Given the description of an element on the screen output the (x, y) to click on. 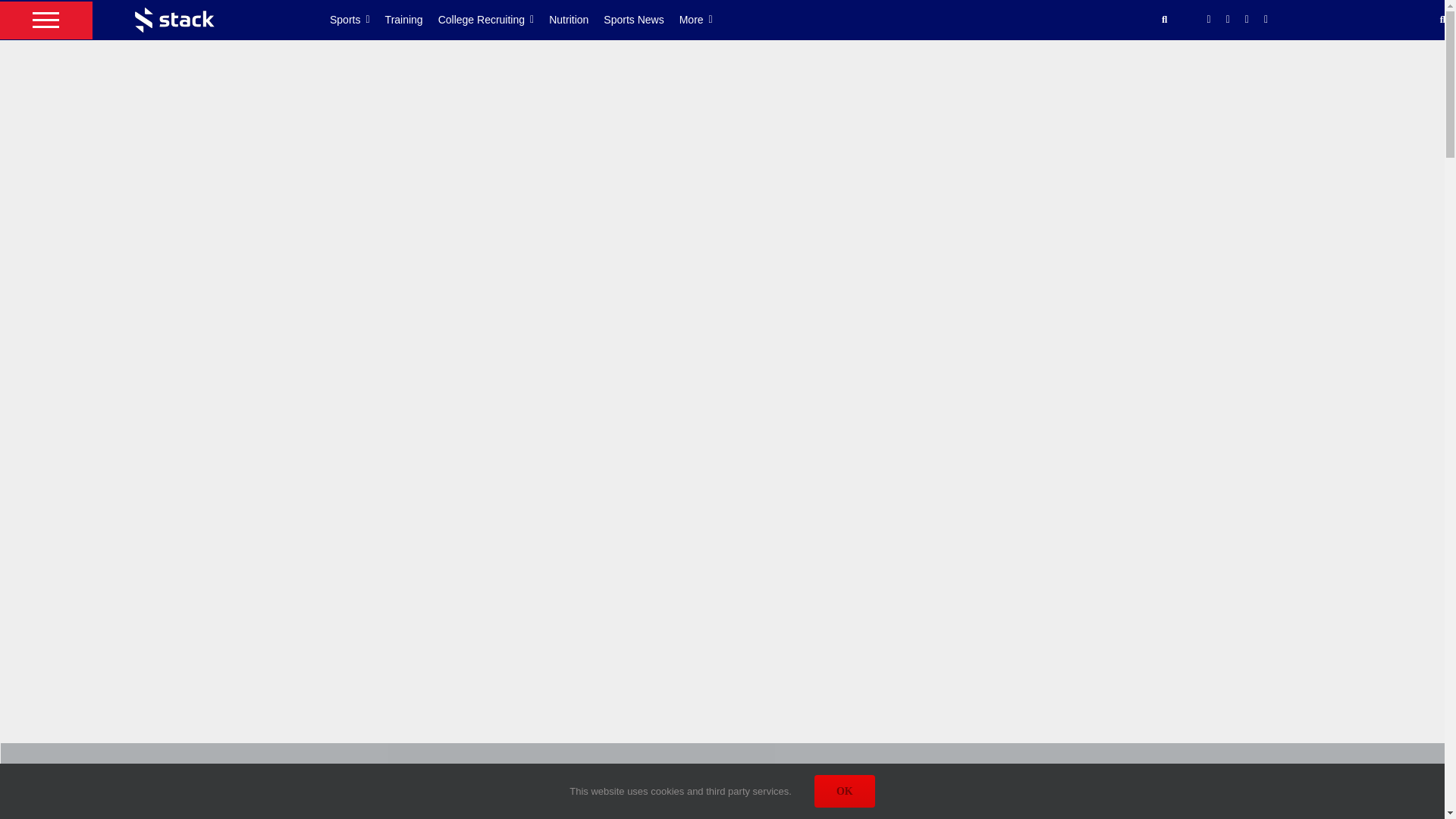
Sports (357, 19)
Training (411, 19)
Sports News (641, 19)
College Recruiting (494, 19)
Nutrition (576, 19)
More (703, 19)
